Given the description of an element on the screen output the (x, y) to click on. 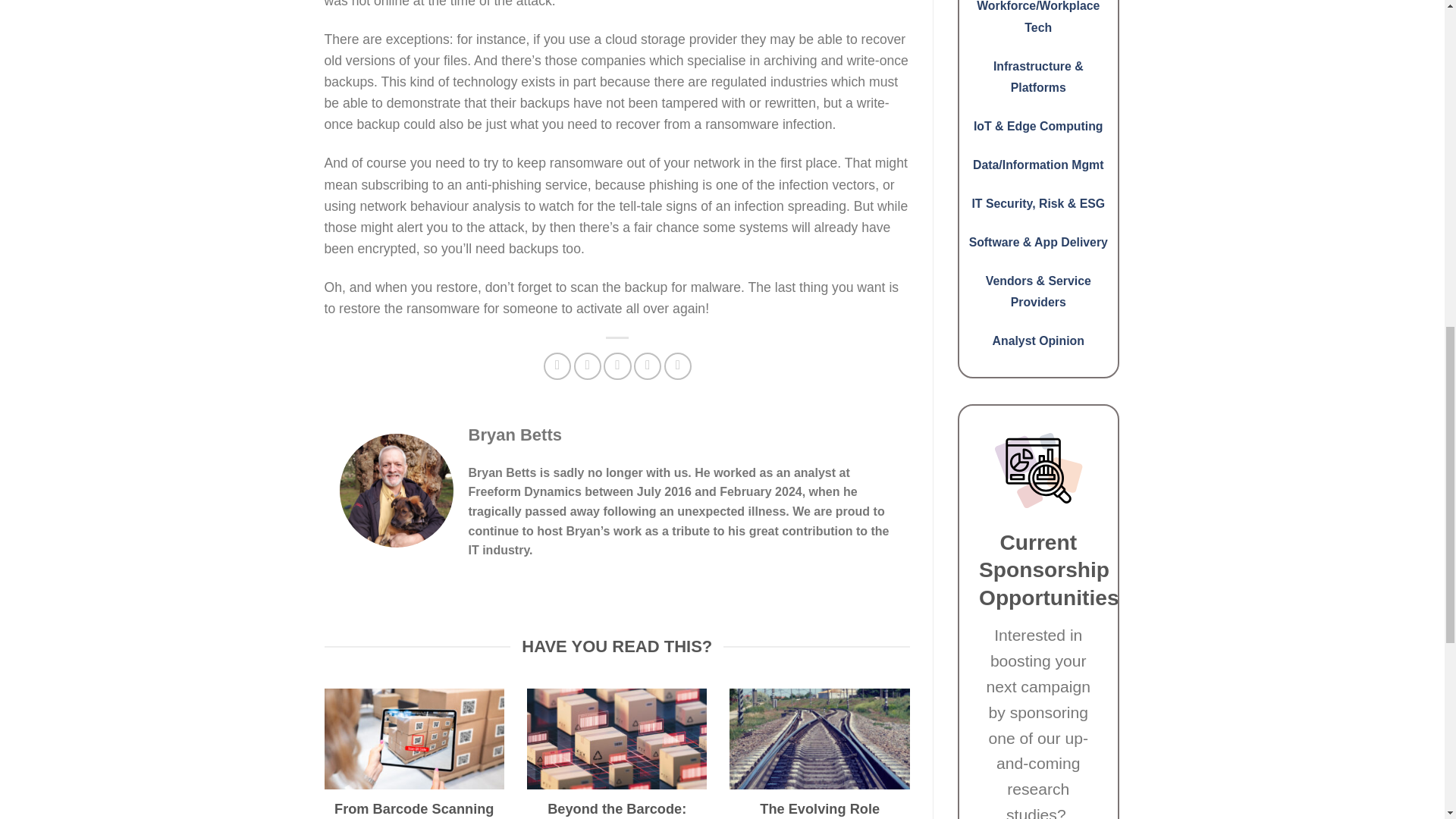
Share on Facebook (556, 366)
Share on LinkedIn (677, 366)
Bryan Betts (515, 434)
Pin on Pinterest (647, 366)
Share on Twitter (587, 366)
Email to a Friend (617, 366)
